Given the description of an element on the screen output the (x, y) to click on. 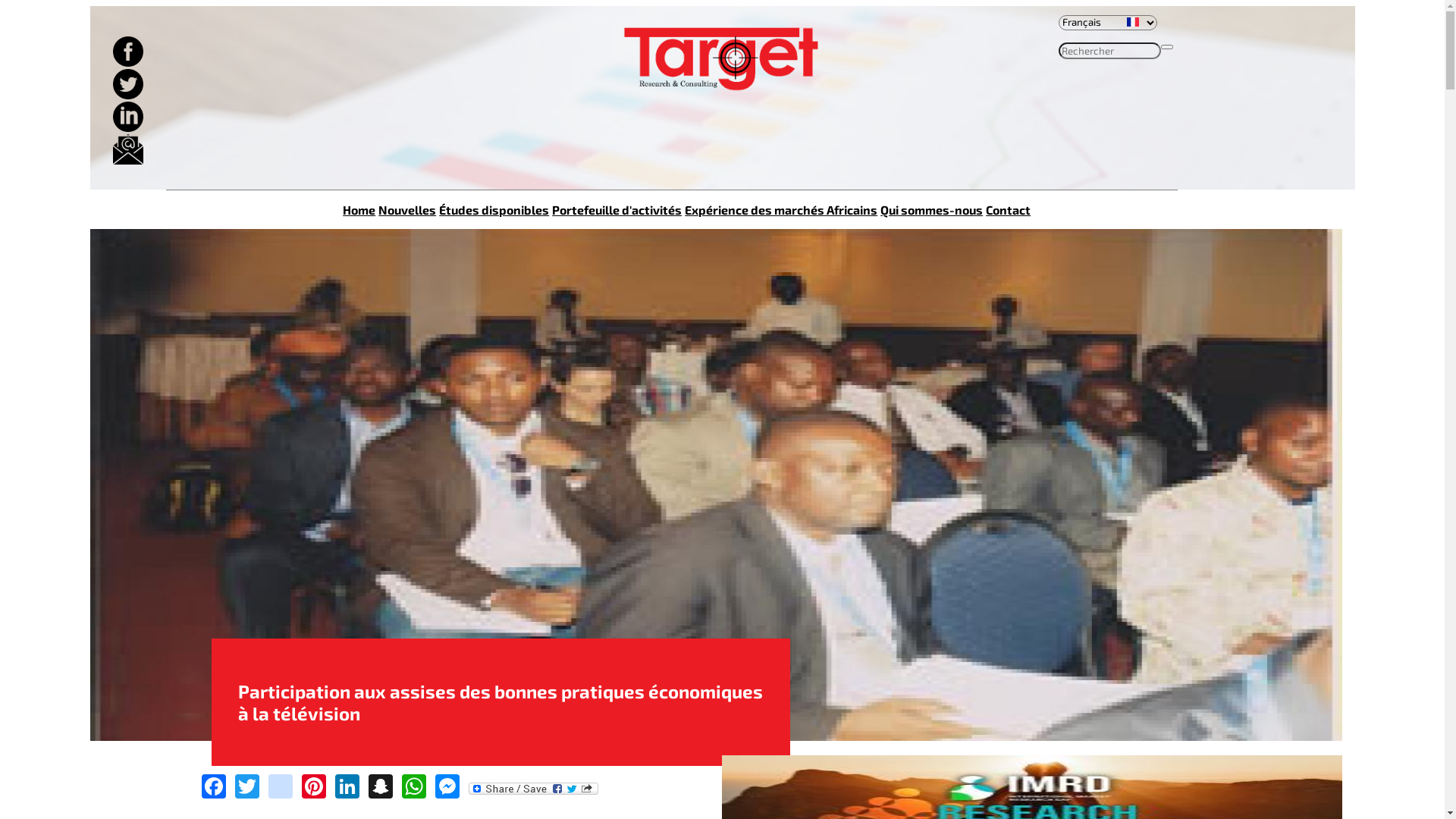
Qui sommes-nous Element type: text (931, 209)
Pinterest Element type: text (313, 784)
Messenger Element type: text (447, 784)
Contact Element type: text (1007, 209)
WhatsApp Element type: text (413, 784)
Aller au contenu principal Element type: text (160, 6)
Rechercher Element type: text (1090, 68)
instagram Element type: text (280, 784)
LinkedIn Element type: text (347, 784)
Snapchat Element type: text (380, 784)
Nouvelles Element type: text (407, 209)
Home Element type: text (358, 209)
Twitter Element type: text (247, 784)
Facebook Element type: text (213, 784)
